Given the description of an element on the screen output the (x, y) to click on. 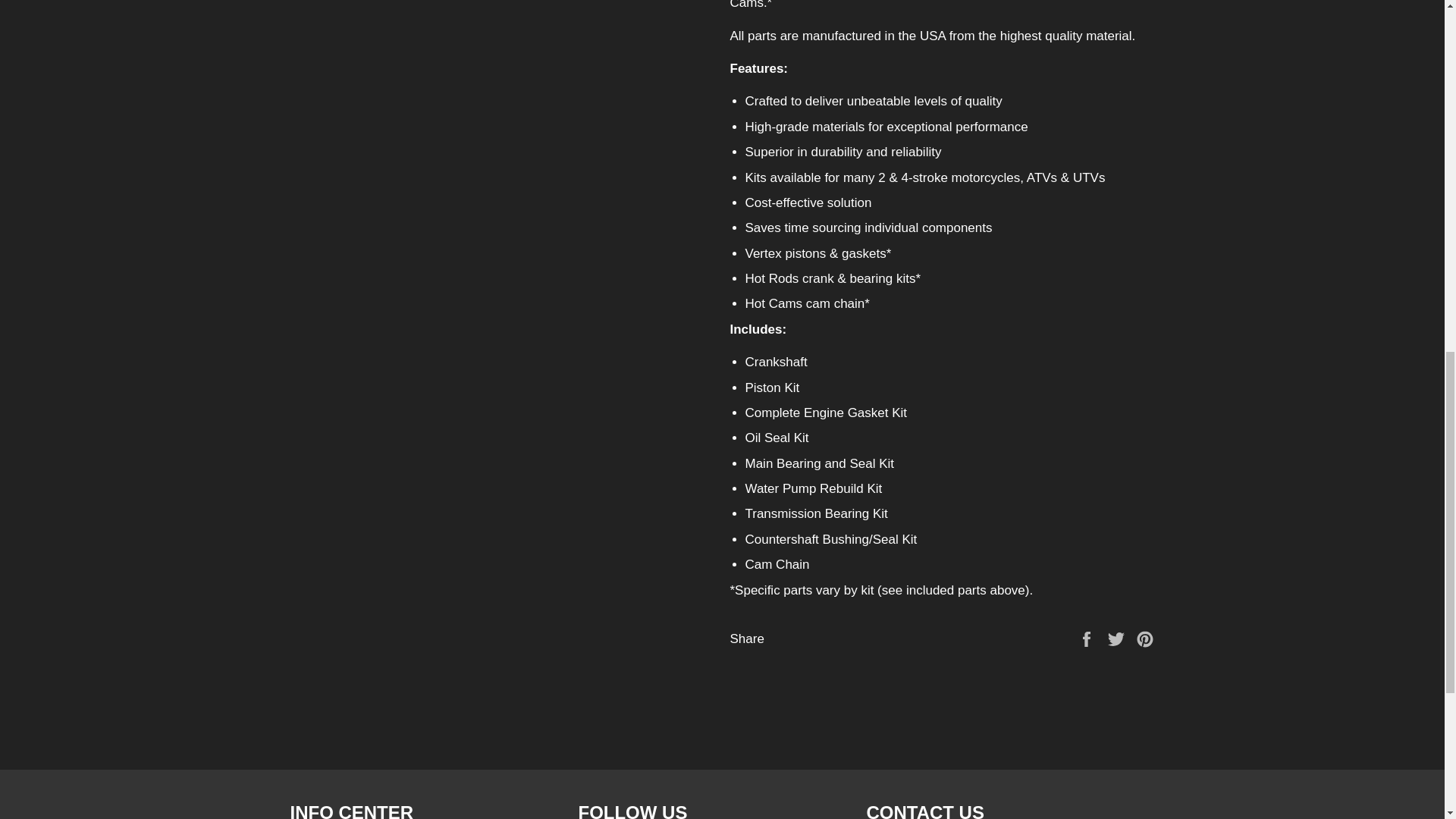
Tweet on Twitter (1117, 638)
Pin on Pinterest (1144, 638)
Share on Facebook (1088, 638)
